Given the description of an element on the screen output the (x, y) to click on. 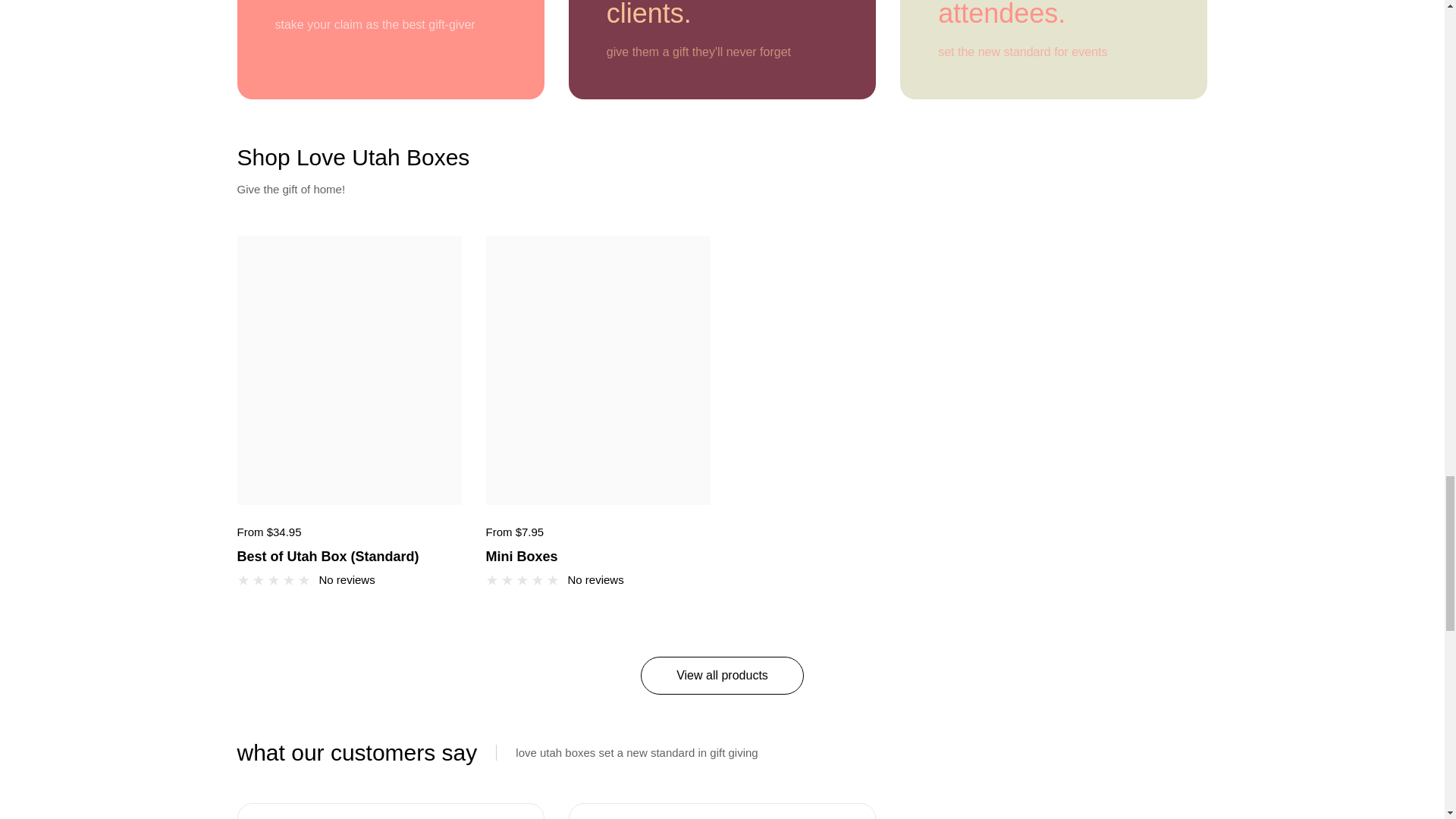
View all products (721, 675)
Mini Boxes (597, 553)
Mini Boxes (597, 553)
